Given the description of an element on the screen output the (x, y) to click on. 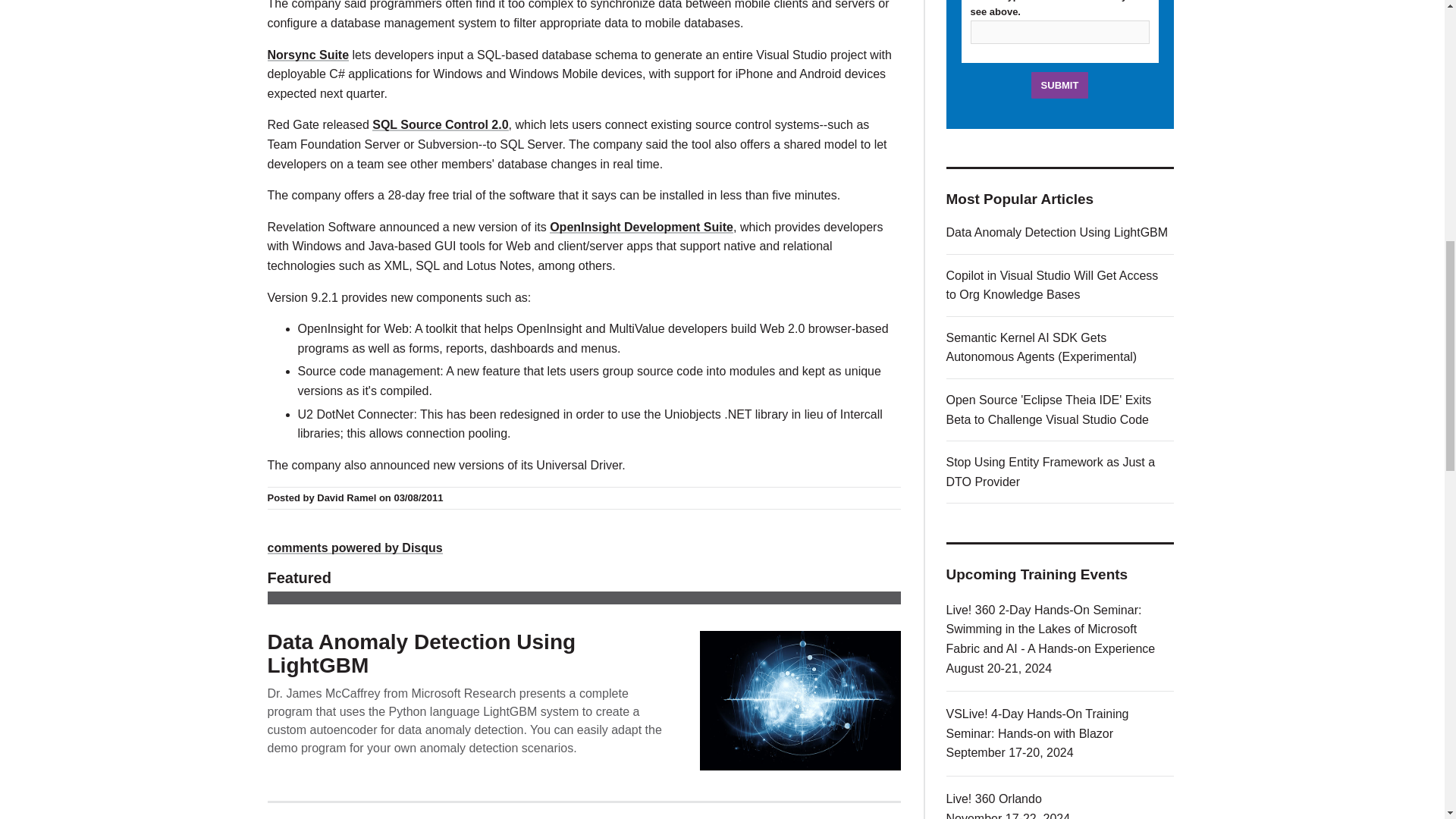
Submit (1059, 85)
